Given the description of an element on the screen output the (x, y) to click on. 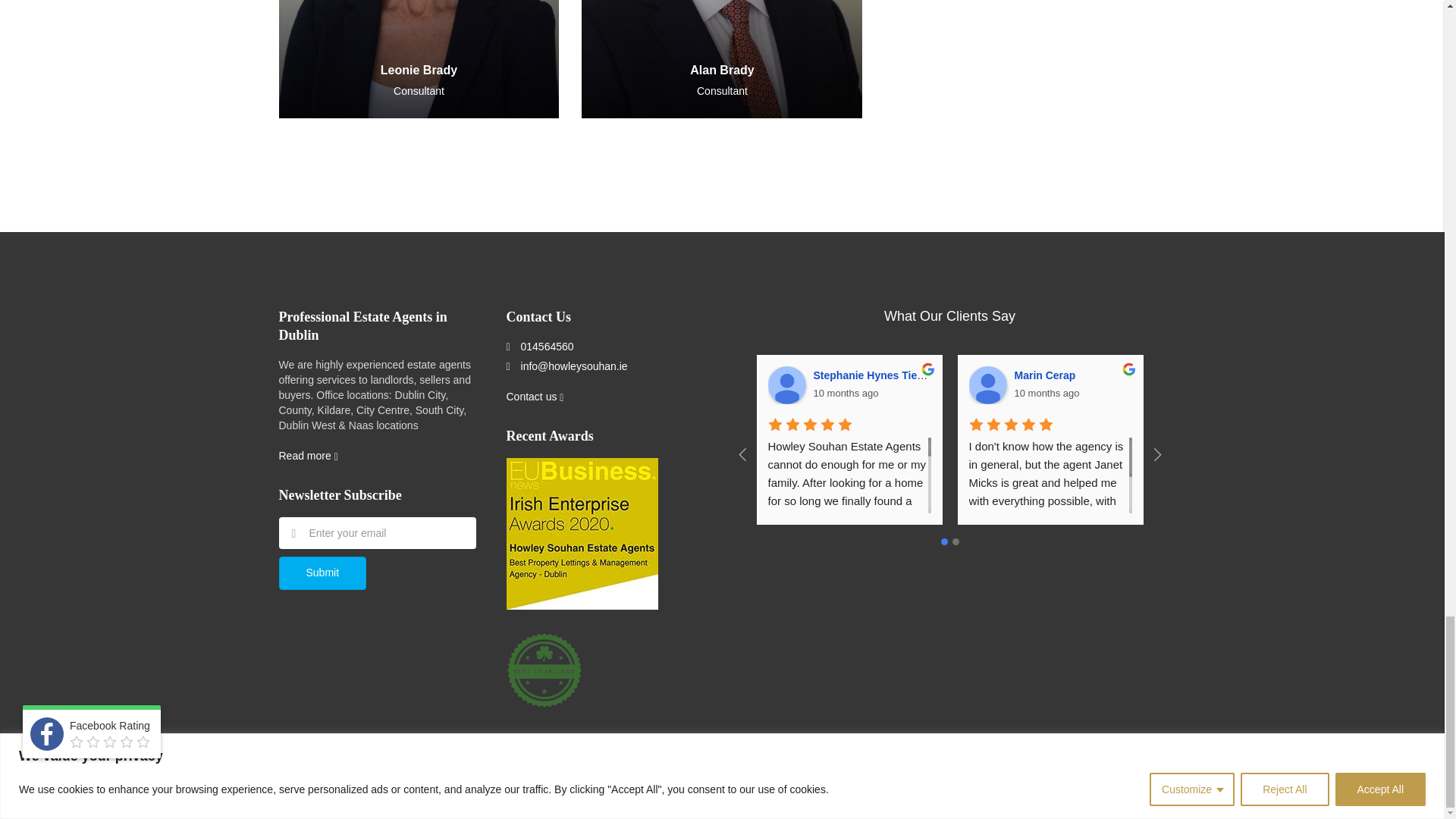
Pat Conroy (1390, 385)
Marin Cerap (988, 385)
Stephanie Hynes Tiernan (786, 385)
Rachel Shadwell-Gibney (1188, 385)
